Given the description of an element on the screen output the (x, y) to click on. 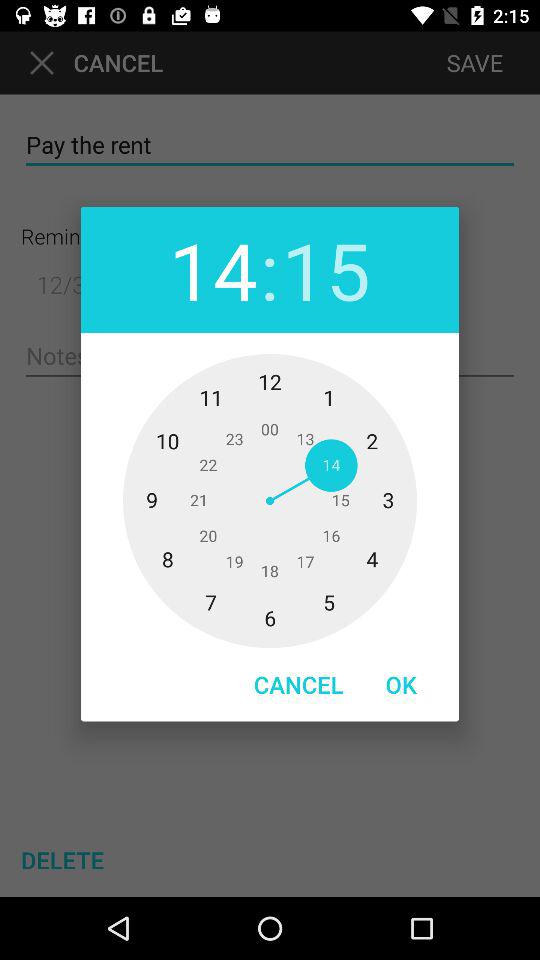
press the 14 item (213, 269)
